Given the description of an element on the screen output the (x, y) to click on. 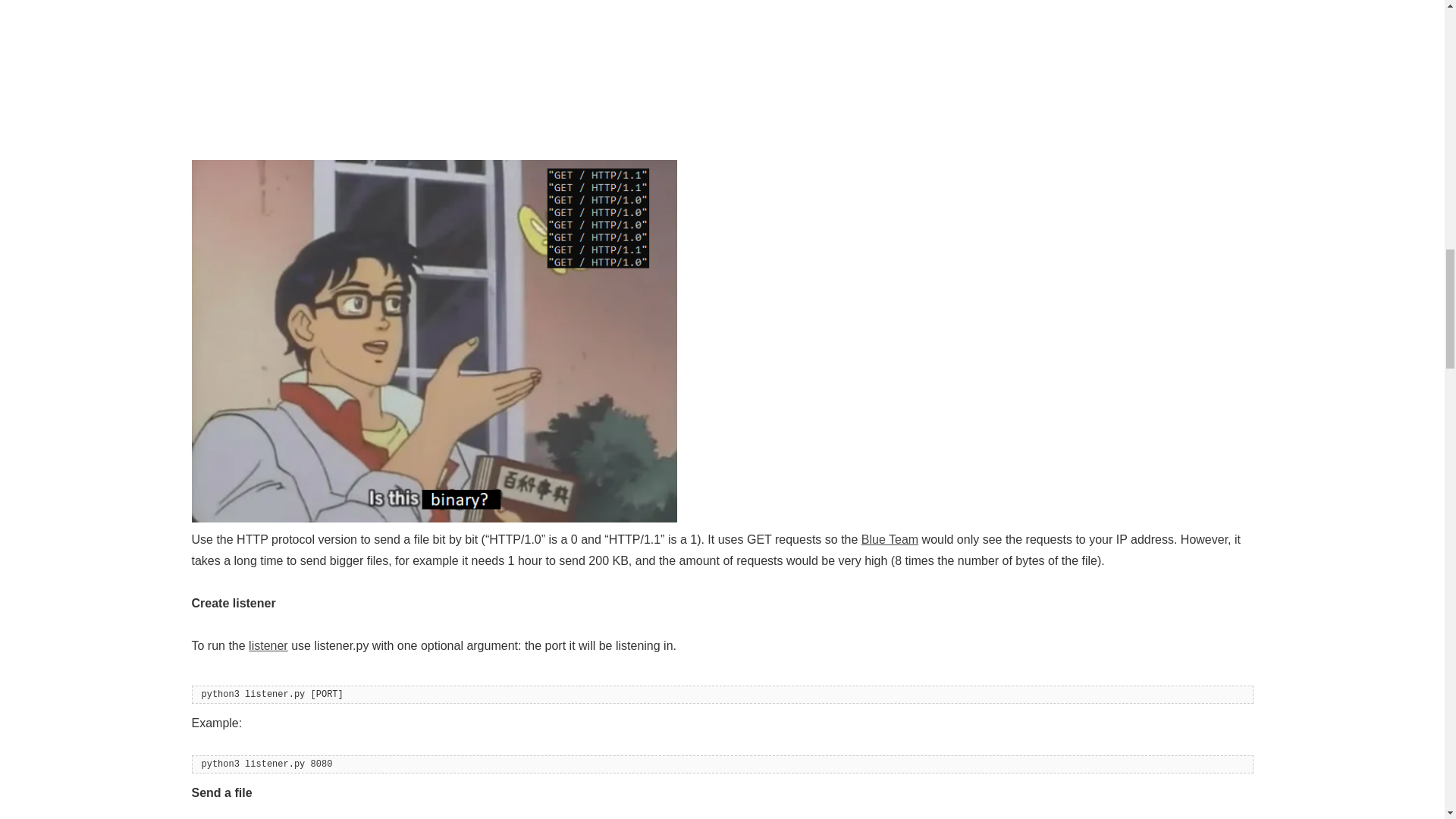
Blue Team (889, 539)
listener (268, 645)
Advertisement (721, 106)
